Given the description of an element on the screen output the (x, y) to click on. 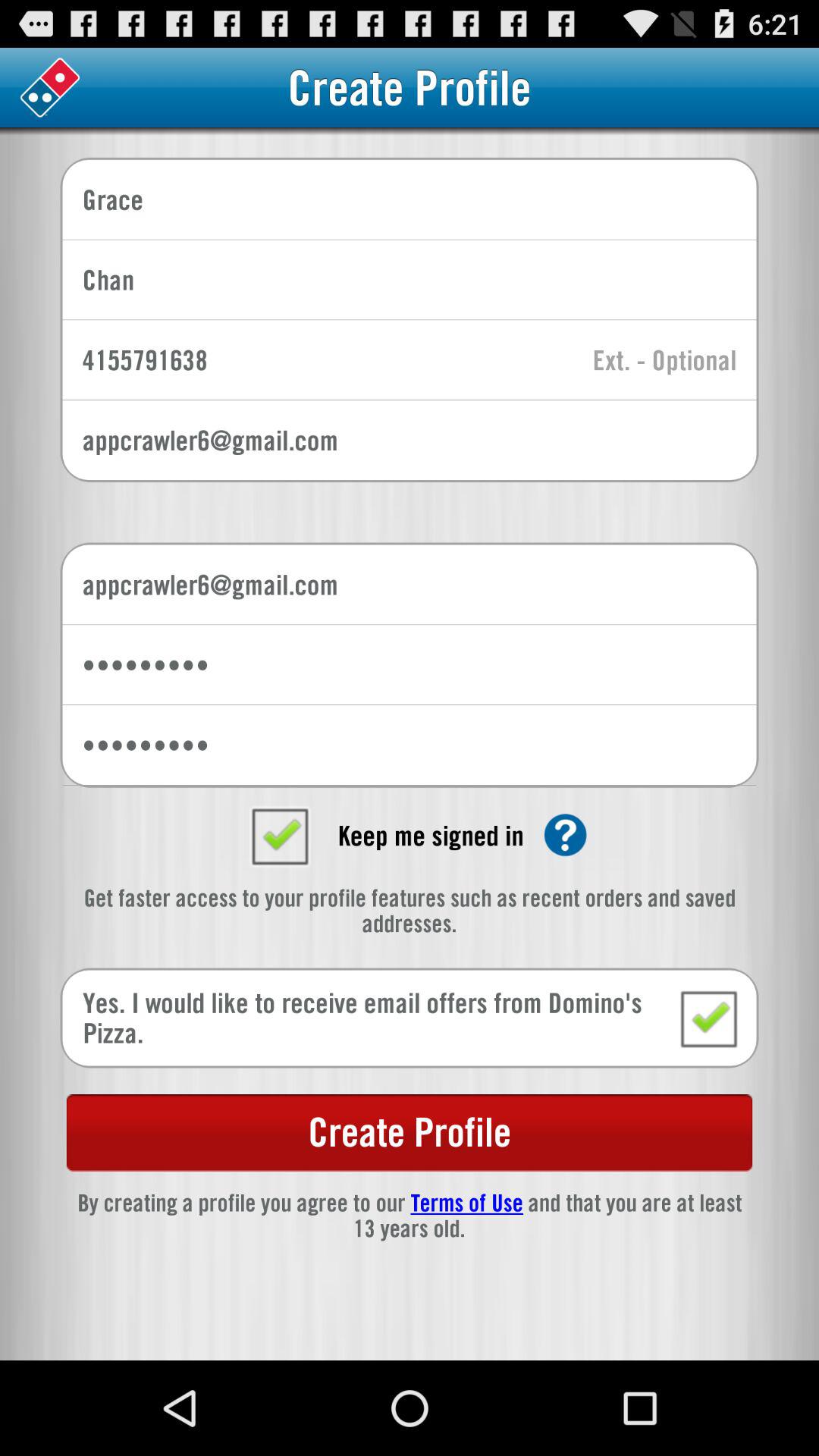
i would like to receive email offers (708, 1017)
